Given the description of an element on the screen output the (x, y) to click on. 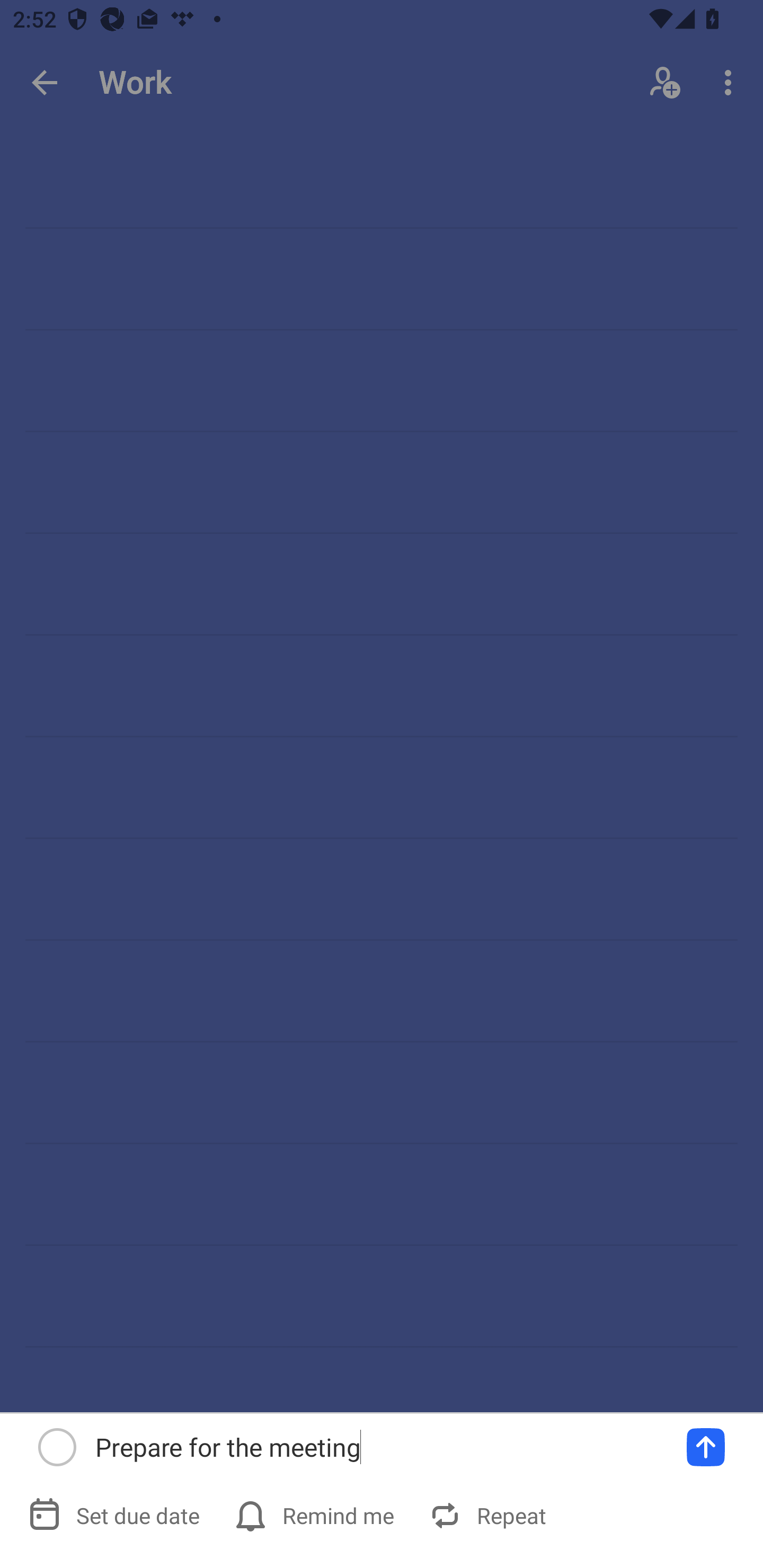
Remind me (315, 1515)
